Given the description of an element on the screen output the (x, y) to click on. 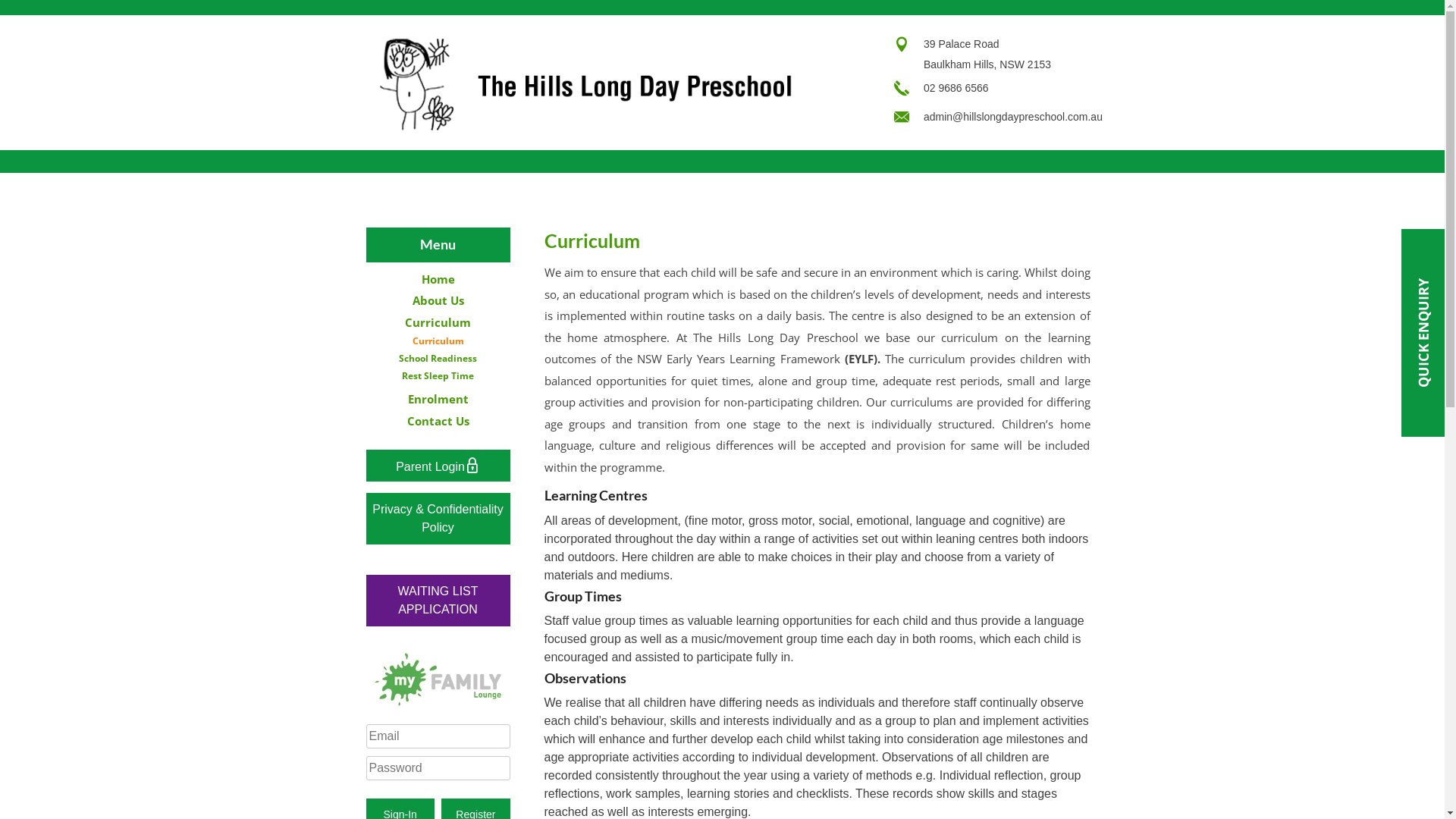
Contact Us Element type: text (437, 420)
WAITING LIST APPLICATION Element type: text (437, 600)
Skip to content Element type: text (0, 15)
Rest Sleep Time Element type: text (437, 375)
Privacy & Confidentiality Policy Element type: text (437, 518)
Enrolment Element type: text (437, 398)
WAITING LIST APPLICATION Element type: text (437, 590)
Curriculum Element type: text (437, 321)
Home Element type: text (438, 278)
About Us Element type: text (438, 299)
Parent Login Element type: text (437, 466)
School Readiness Element type: text (437, 357)
Curriculum Element type: text (438, 340)
